Given the description of an element on the screen output the (x, y) to click on. 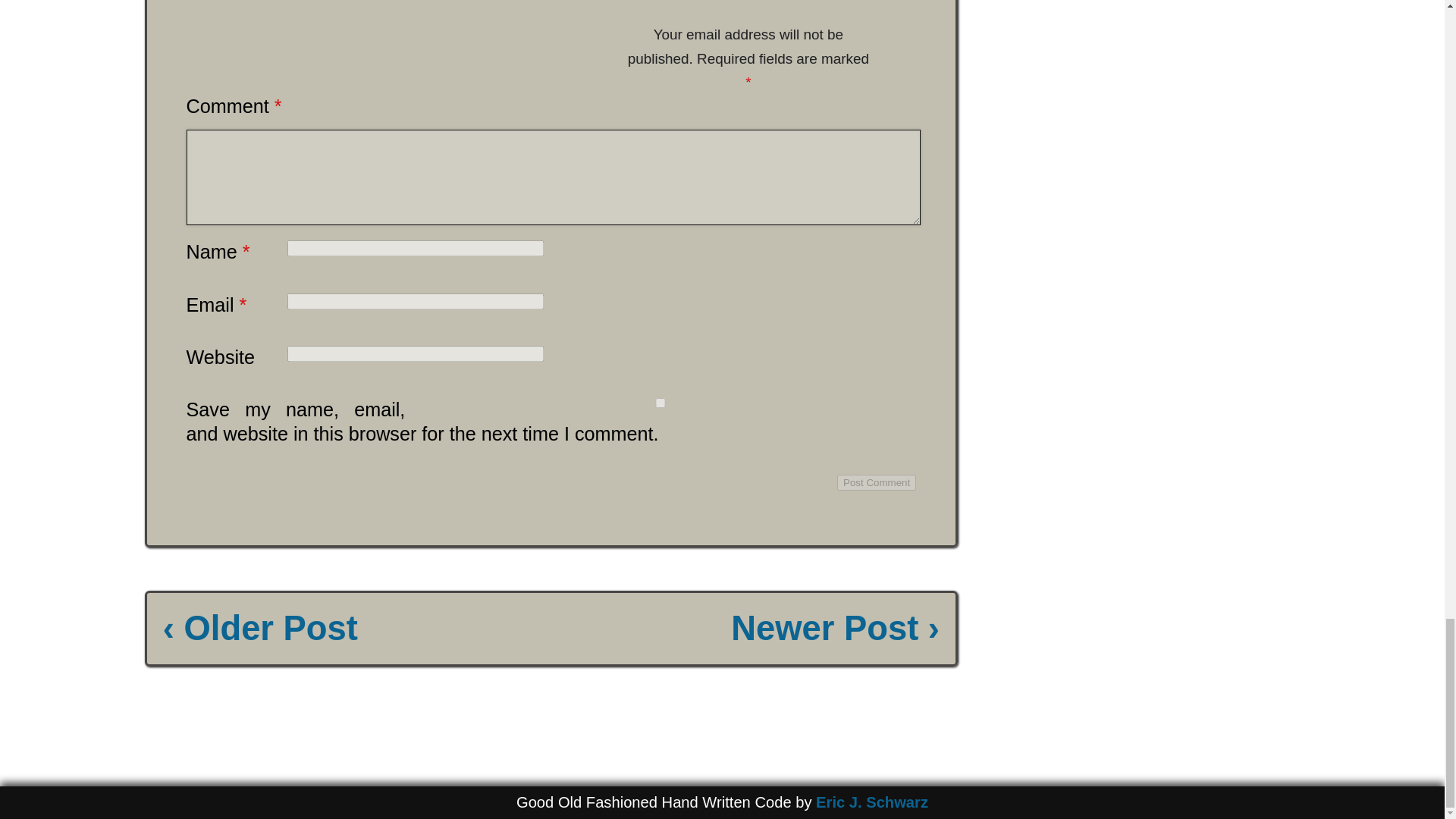
yes (659, 402)
Post Comment (876, 482)
Post Comment (876, 482)
Eric J. Schwarz (871, 801)
